Given the description of an element on the screen output the (x, y) to click on. 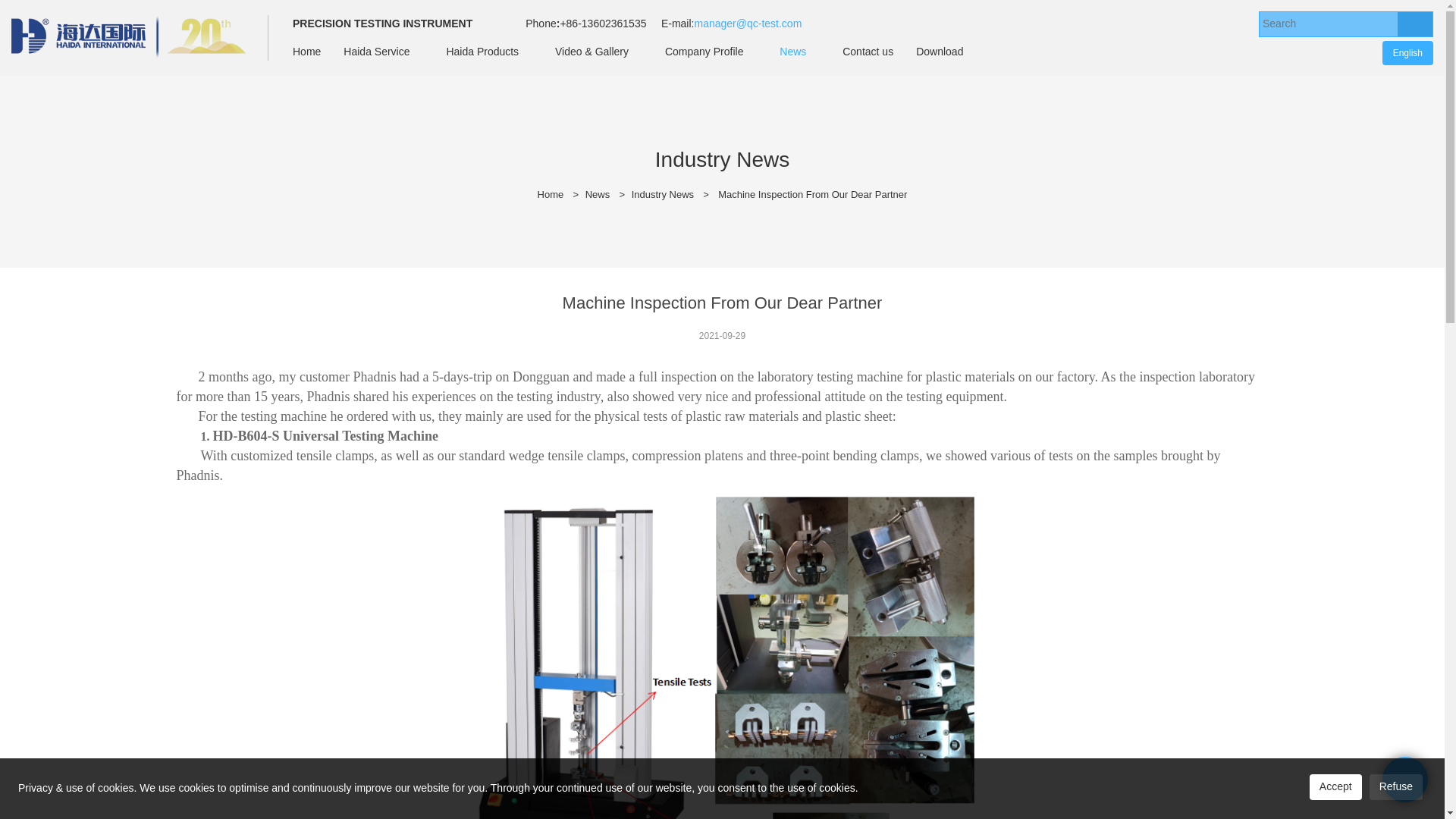
Haida Service (375, 51)
Haida Products (481, 51)
Home (306, 51)
